Given the description of an element on the screen output the (x, y) to click on. 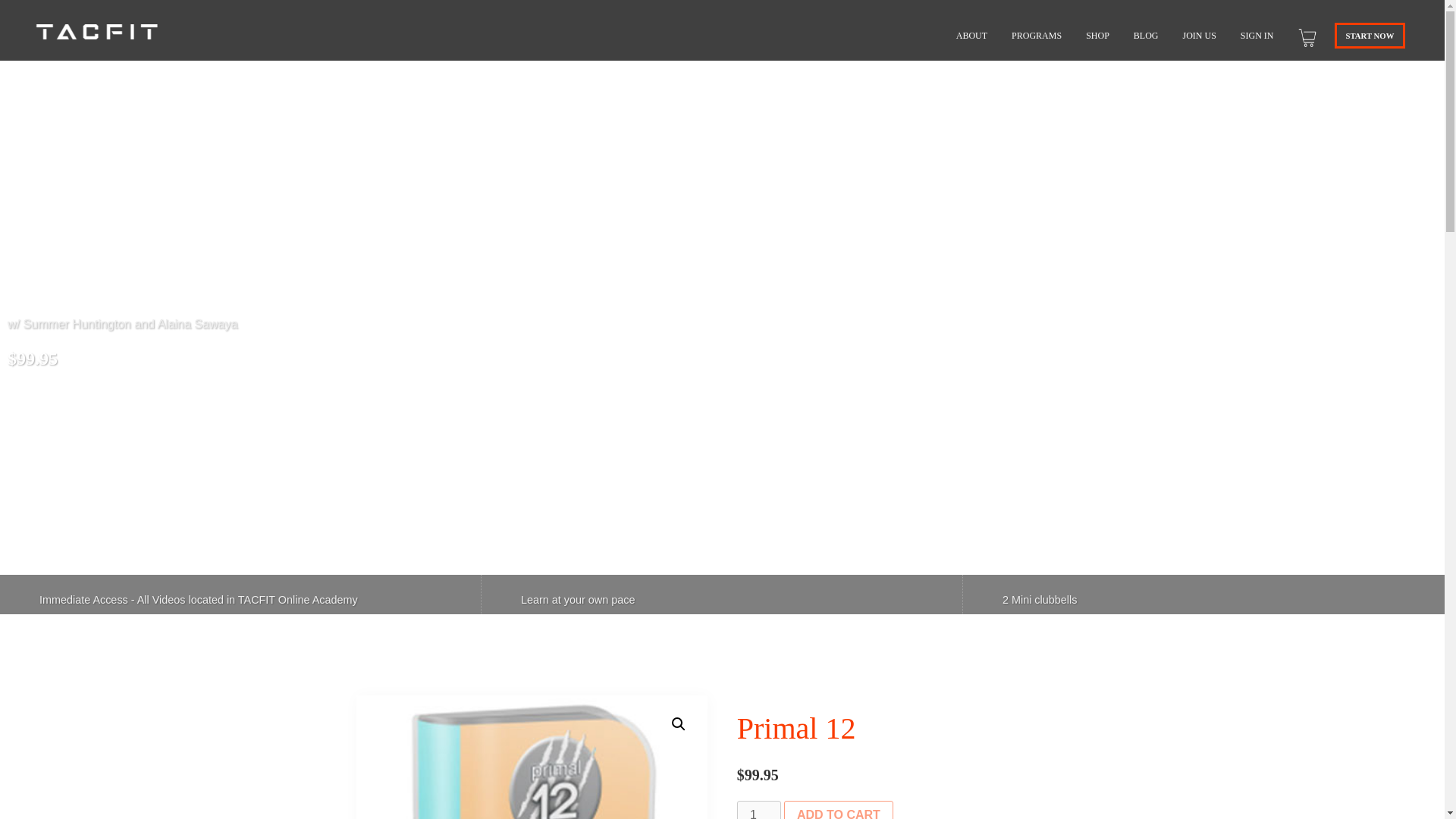
1 (758, 809)
SIGN IN (1256, 35)
BLOG (1145, 35)
START NOW (1370, 35)
ADD TO CART (838, 809)
PROGRAMS (1036, 35)
SHOP (1097, 35)
ABOUT (971, 35)
JOIN US (1199, 35)
